Given the description of an element on the screen output the (x, y) to click on. 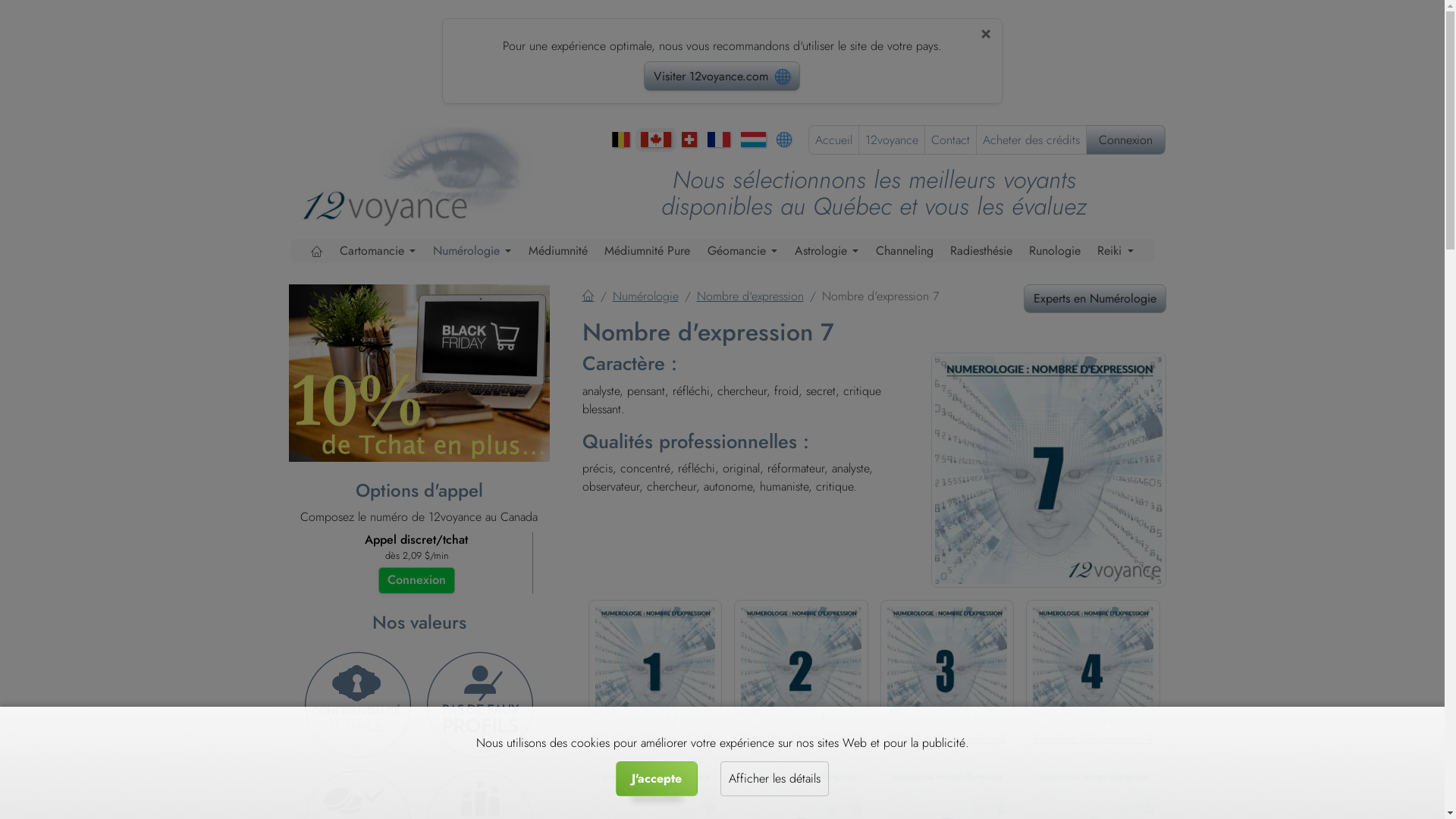
Visiter 12voyance.com Element type: text (721, 76)
Contact Element type: text (950, 139)
Accueil Element type: text (832, 139)
Page d'accueil de 12voyance Element type: hover (425, 173)
Astrologie Element type: text (826, 250)
Channeling Element type: text (904, 250)
Nombre d'expression 2 Element type: text (800, 702)
12voyance Element type: text (890, 139)
Accueil Element type: hover (588, 295)
Runologie Element type: text (1054, 250)
Reiki Element type: text (1115, 250)
Nombre d'expression 7 Element type: hover (1048, 469)
Connexion Element type: text (1124, 139)
Nombre d'expression Element type: text (749, 295)
Nombre d'expression 4 Element type: text (1092, 702)
Connexion Element type: text (415, 580)
Nombre d'expression 1 Element type: text (654, 702)
Nombre d'expression 3 Element type: text (947, 702)
J'accepte Element type: text (656, 778)
Cartomancie Element type: text (377, 250)
